Given the description of an element on the screen output the (x, y) to click on. 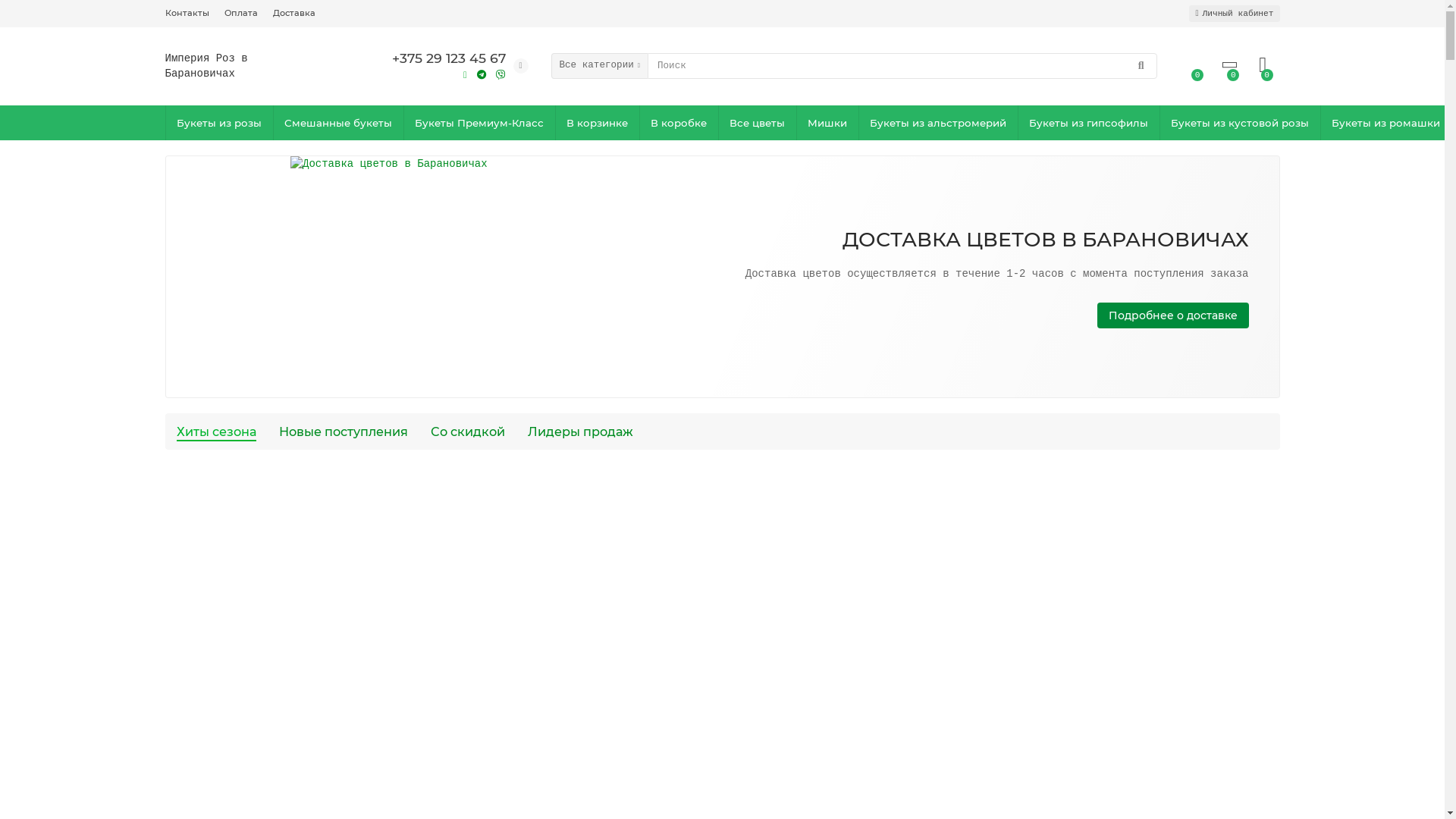
0 Element type: text (1262, 65)
